Given the description of an element on the screen output the (x, y) to click on. 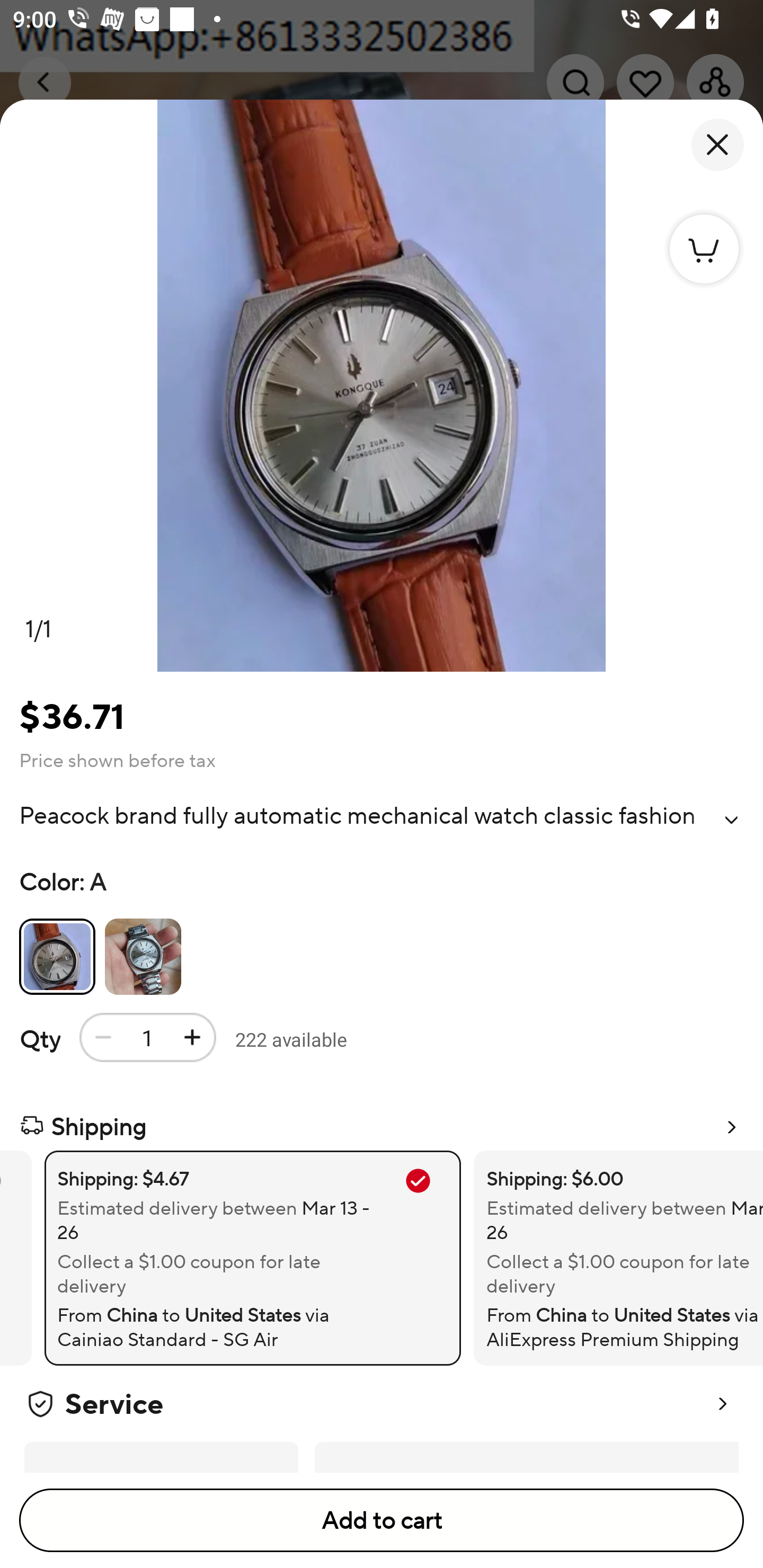
close  (717, 144)
 (730, 819)
Add to cart (381, 1520)
